Given the description of an element on the screen output the (x, y) to click on. 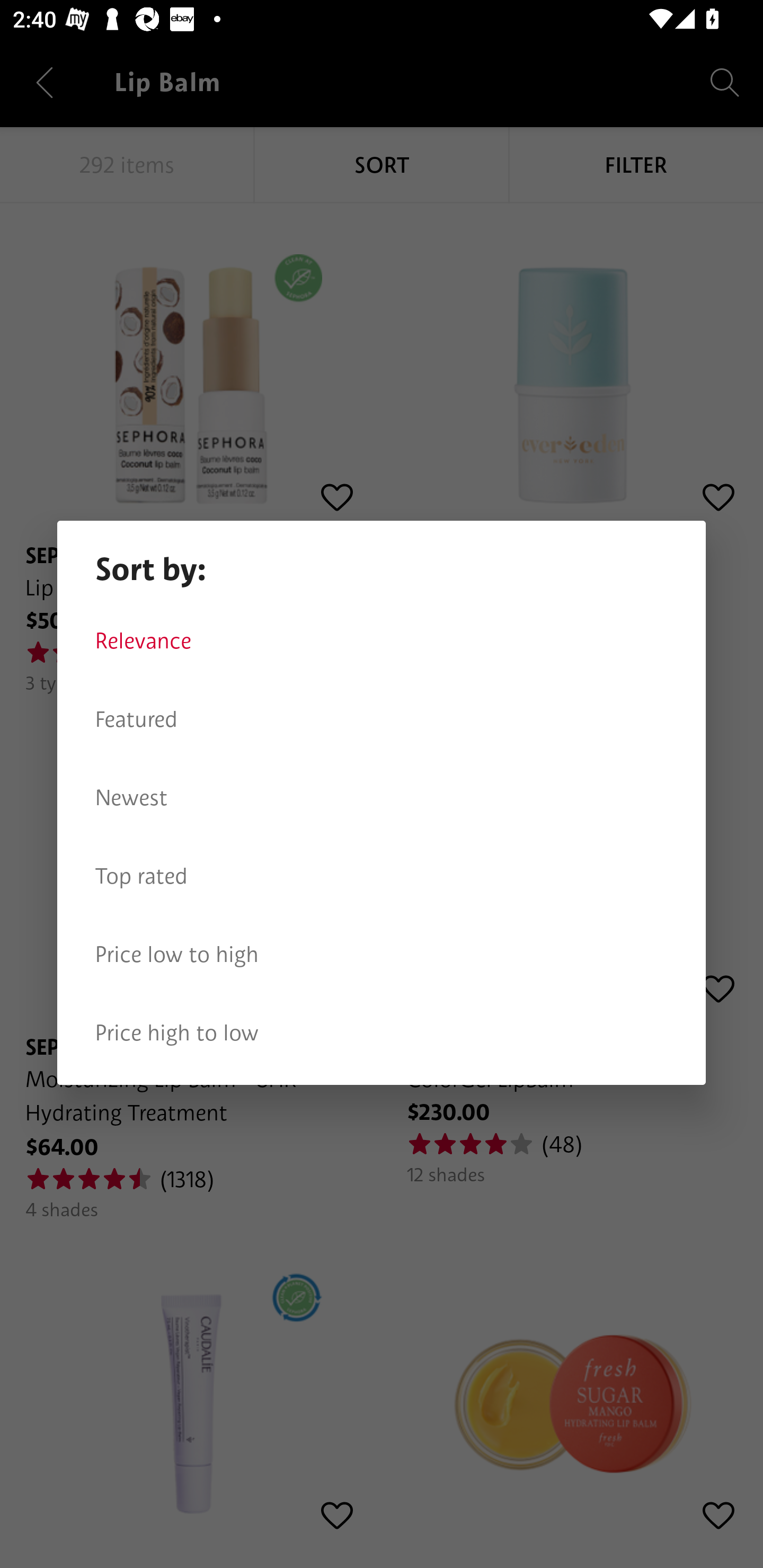
Relevance (381, 641)
Featured (381, 719)
Newest (381, 797)
Top rated (381, 876)
Price low to high (381, 954)
Price high to low (381, 1033)
